Given the description of an element on the screen output the (x, y) to click on. 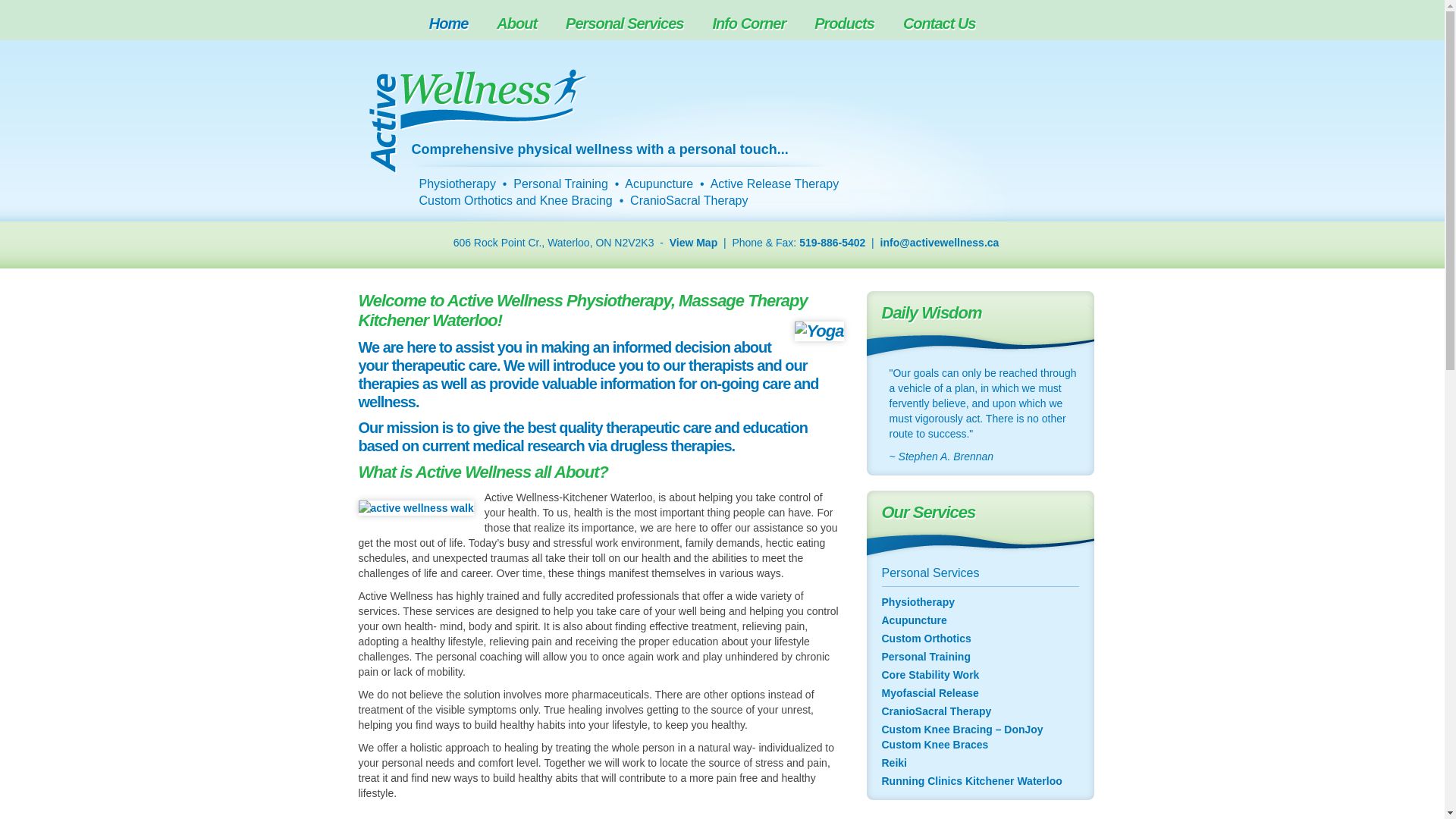
Products Element type: text (852, 23)
info@activewellness.ca Element type: text (939, 242)
Custom Orthotics Element type: text (925, 638)
Running Clinics Kitchener Waterloo Element type: text (971, 781)
Core Stability Work Element type: text (930, 674)
Info Corner Element type: text (757, 23)
Myofascial Release Element type: text (929, 693)
Home Element type: text (457, 23)
homepic_2 Element type: hover (819, 331)
Contact Us Element type: text (947, 23)
About Element type: text (524, 23)
Personal Training Element type: text (925, 656)
homepic_1 Element type: hover (415, 507)
Reiki Element type: text (893, 762)
View Map Element type: text (693, 242)
CranioSacral Therapy Element type: text (936, 711)
Acupuncture Element type: text (913, 620)
Personal Services Element type: text (632, 23)
Physiotherapy Element type: text (917, 602)
